Given the description of an element on the screen output the (x, y) to click on. 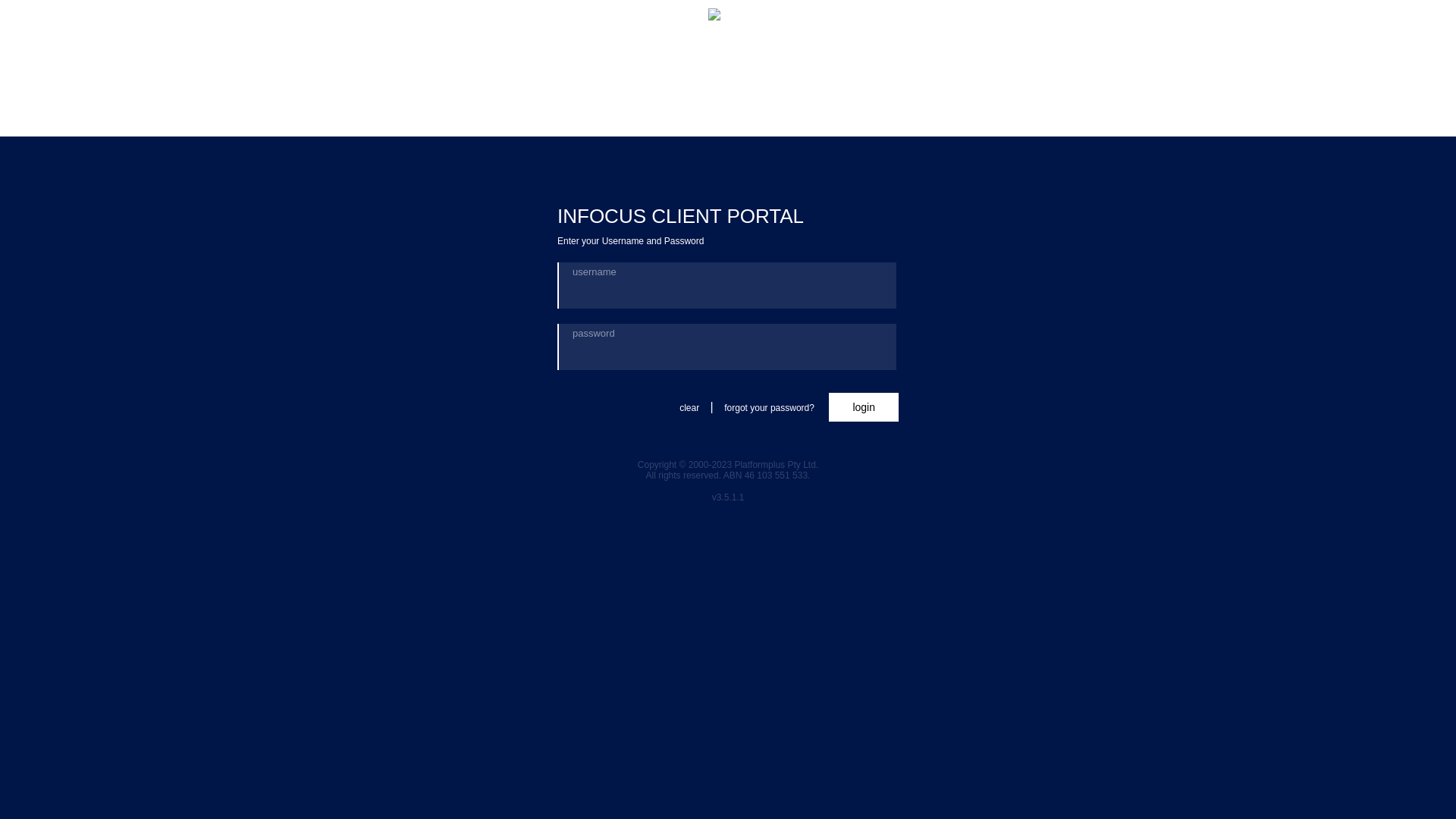
forgot your password? Element type: text (769, 408)
LOGIN Element type: text (863, 406)
